Given the description of an element on the screen output the (x, y) to click on. 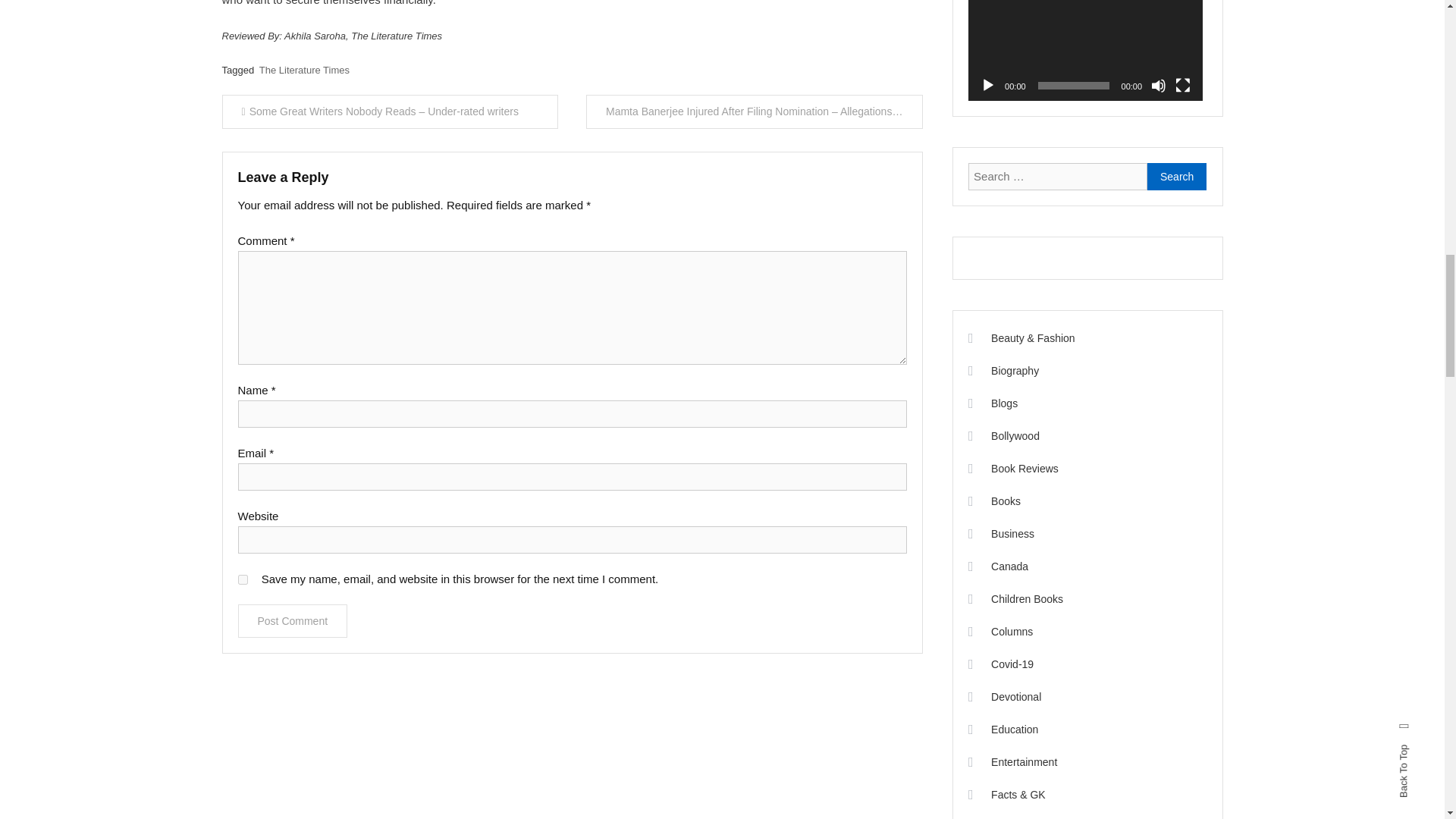
Search (1177, 176)
Mute (1158, 85)
Post Comment (292, 621)
Fullscreen (1182, 85)
yes (242, 579)
Search (1177, 176)
Play (987, 85)
